Given the description of an element on the screen output the (x, y) to click on. 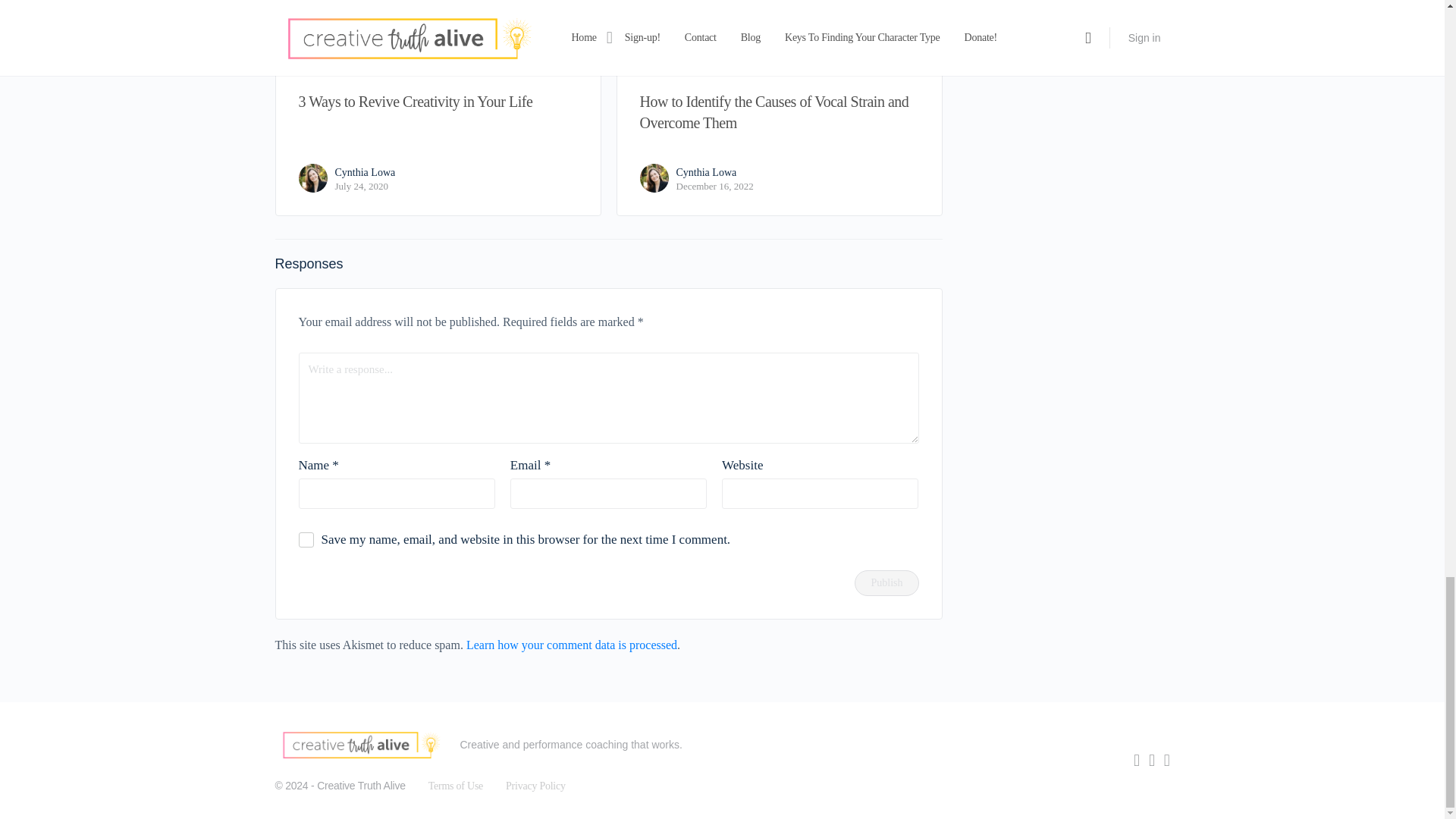
Permalink to 3 Ways to Revive Creativity in Your Life (437, 36)
Publish (886, 583)
